Given the description of an element on the screen output the (x, y) to click on. 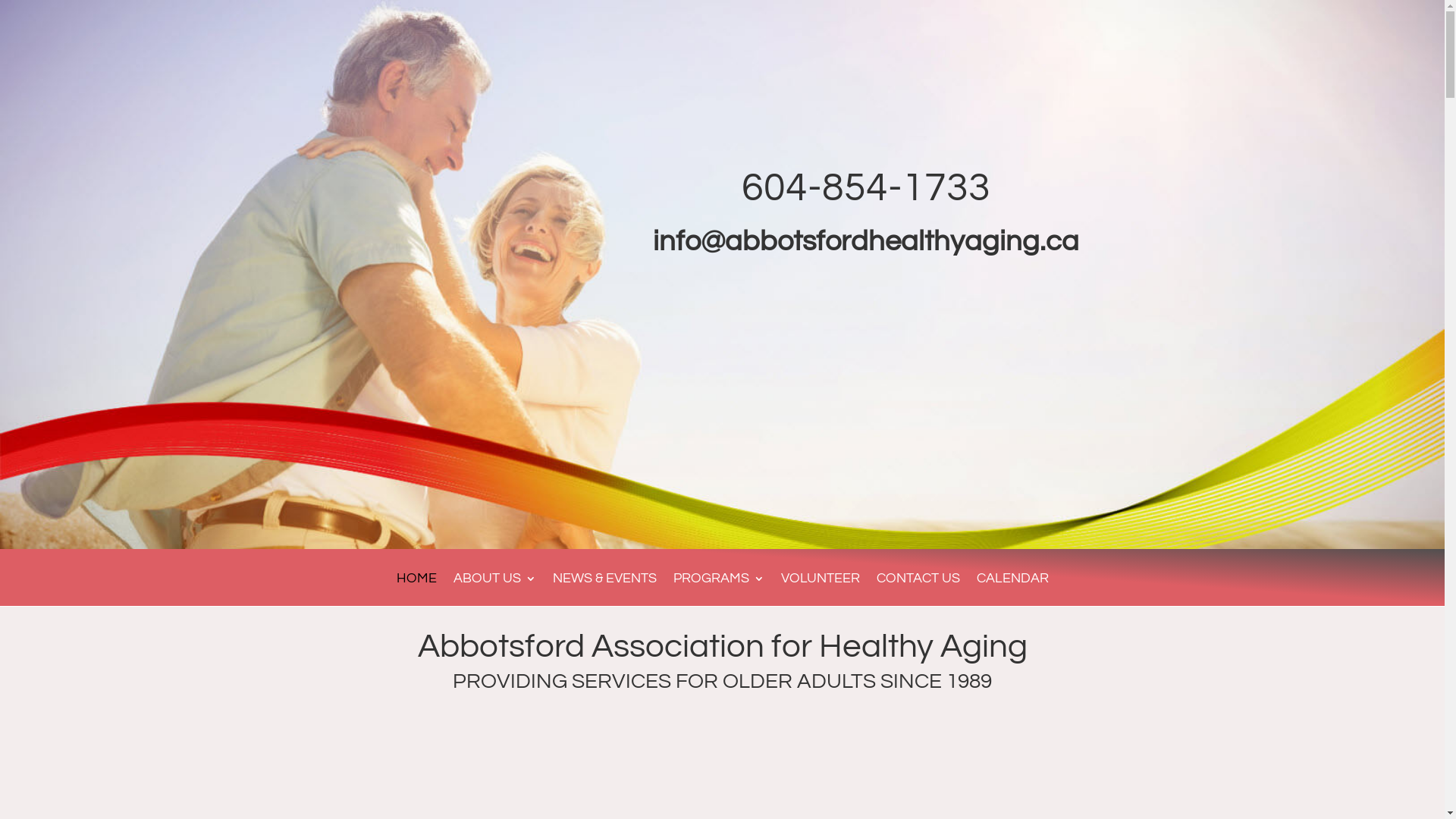
NEWS & EVENTS Element type: text (603, 589)
info@abbotsfordhealthyaging.ca Element type: text (865, 241)
CONTACT US Element type: text (918, 589)
ABOUT US Element type: text (494, 589)
CALENDAR Element type: text (1012, 589)
PROGRAMS Element type: text (718, 589)
HOME Element type: text (415, 589)
VOLUNTEER Element type: text (820, 589)
